Given the description of an element on the screen output the (x, y) to click on. 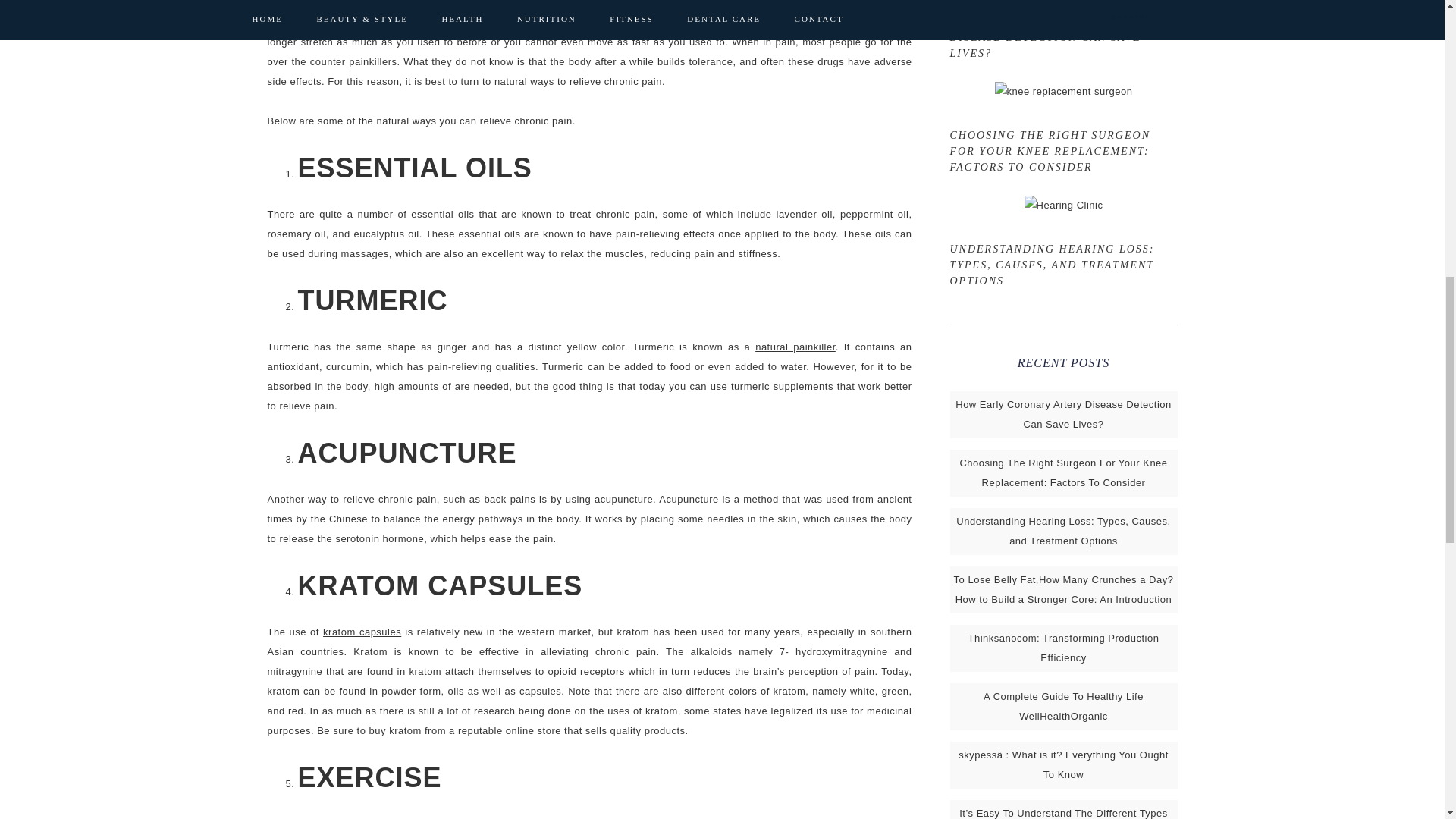
Thinksanocom: Transforming Production Efficiency (1063, 647)
How Early Coronary Artery Disease Detection Can Save Lives? (1063, 413)
kratom capsules (362, 632)
HOW EARLY CORONARY ARTERY DISEASE DETECTION CAN SAVE LIVES? (1045, 36)
natural painkiller (795, 346)
